Given the description of an element on the screen output the (x, y) to click on. 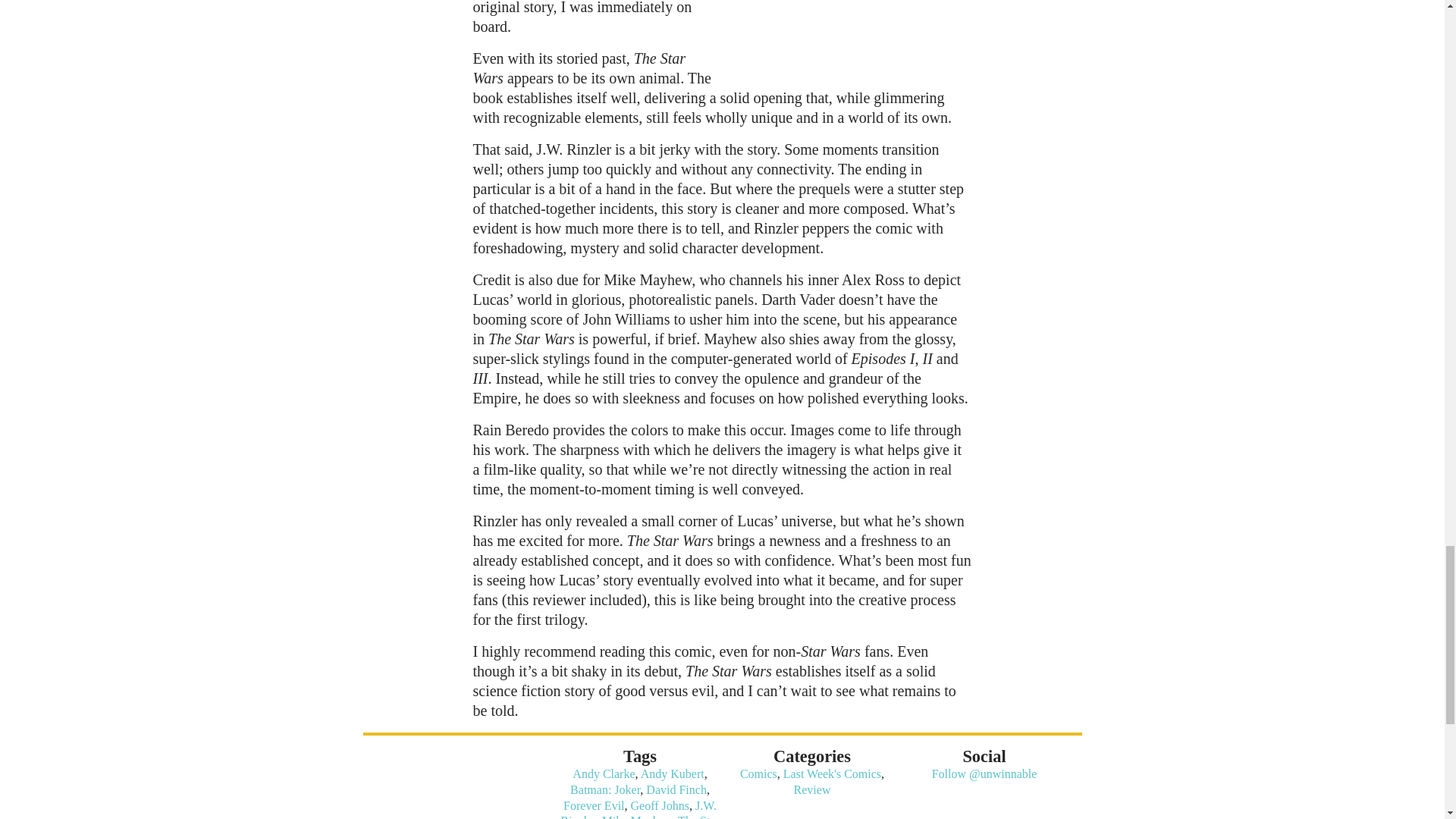
Comics (758, 773)
Geoff Johns (659, 805)
The Star Wars (673, 816)
Batman: Joker (605, 789)
Review (812, 789)
Andy Clarke (603, 773)
David Finch (676, 789)
Forever Evil (593, 805)
Andy Kubert (672, 773)
Mike Mayhew (637, 816)
